Given the description of an element on the screen output the (x, y) to click on. 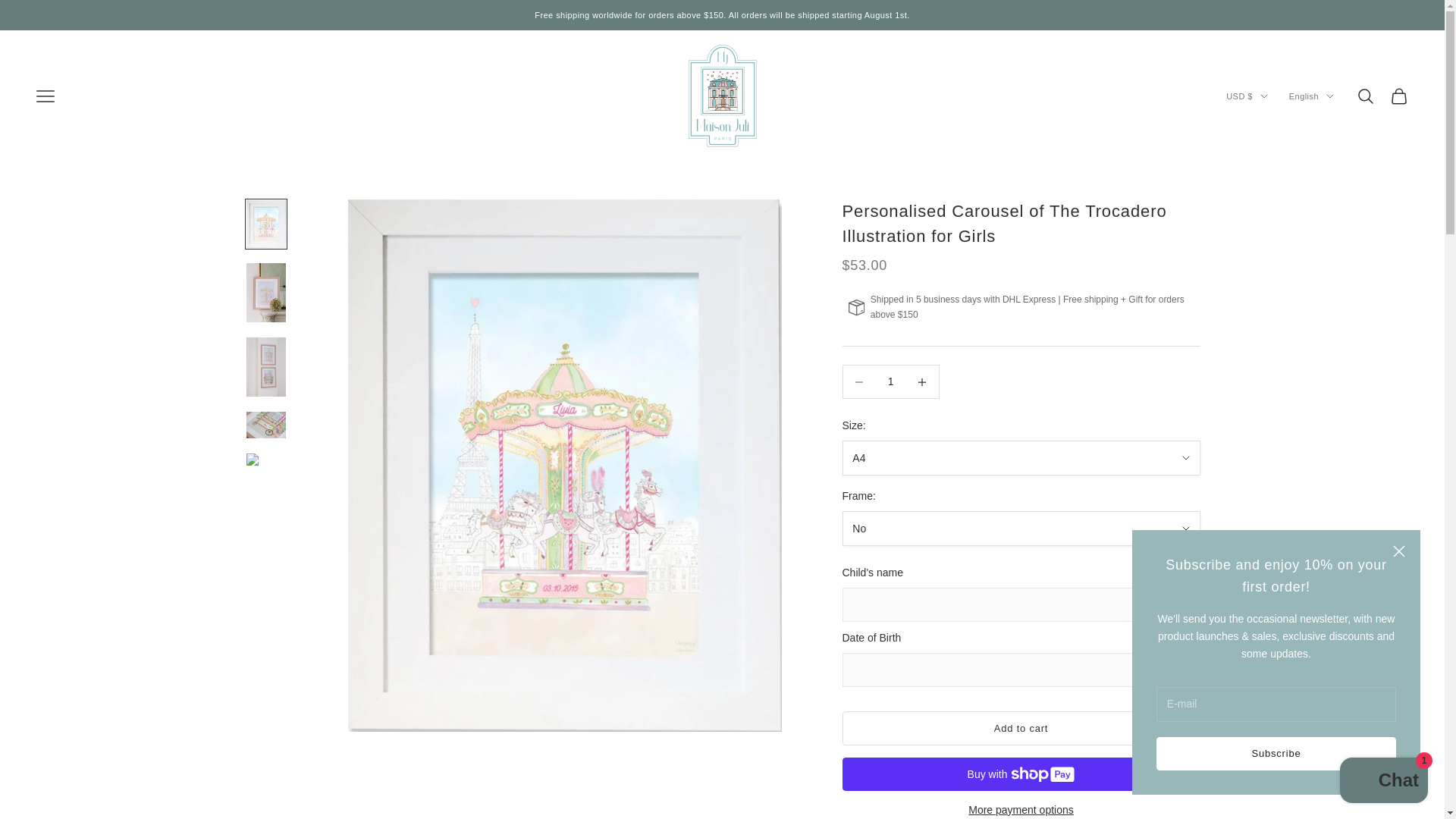
Shopify online store chat (1383, 781)
1 (890, 381)
Open navigation menu (45, 95)
Maisonjuli (722, 96)
